Given the description of an element on the screen output the (x, y) to click on. 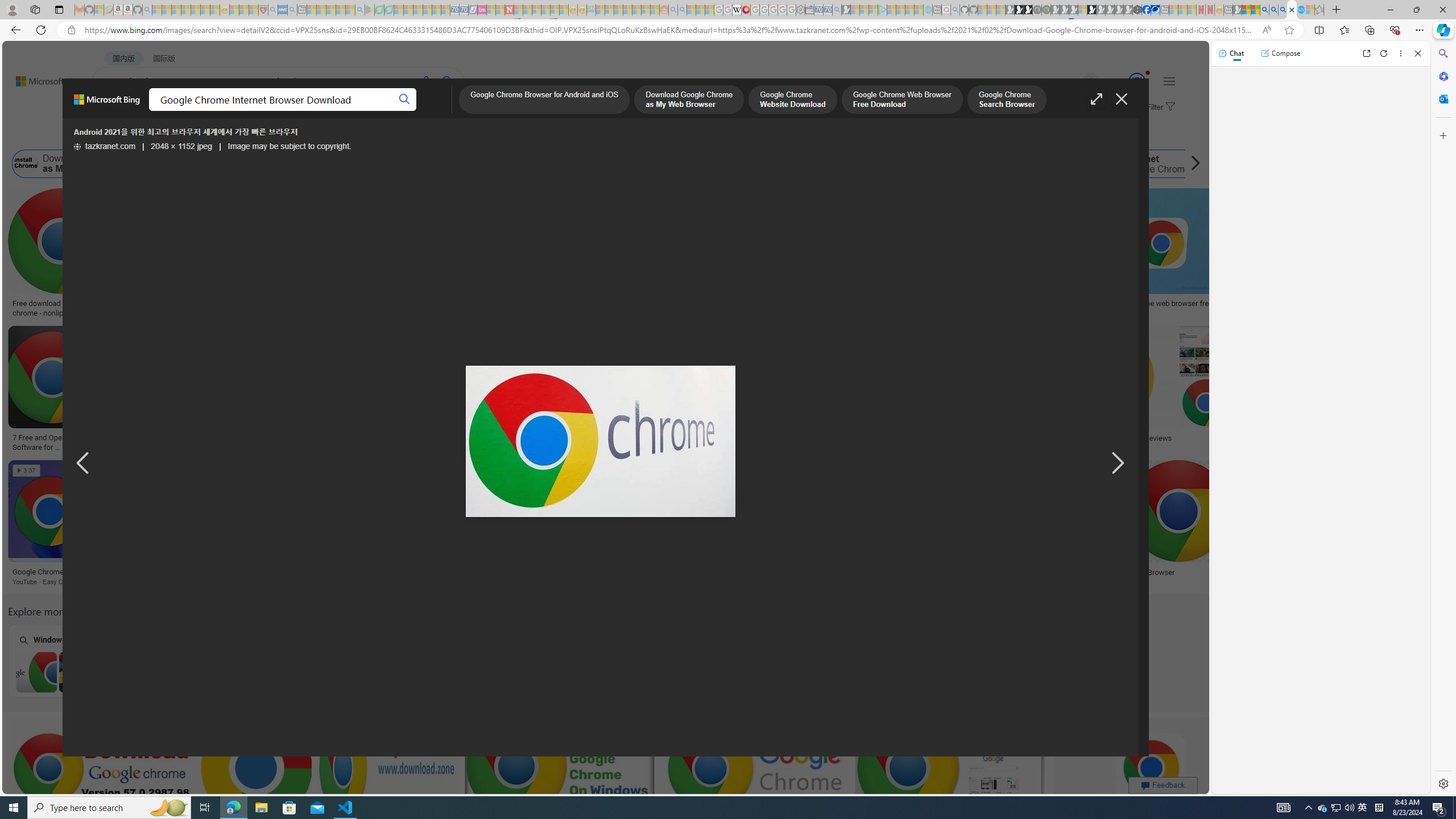
Apk for PC Windows 10 (661, 660)
Download internet explorer 9.0 free - snorobotSave (467, 524)
Windows 7 (78, 660)
wizardsgase - Blog (844, 303)
How to download google chrome apps - snoml (484, 441)
Descargar Google Chrome Para Pc 2021 Windows 7810 (196, 437)
tazkranet.com (104, 146)
